Given the description of an element on the screen output the (x, y) to click on. 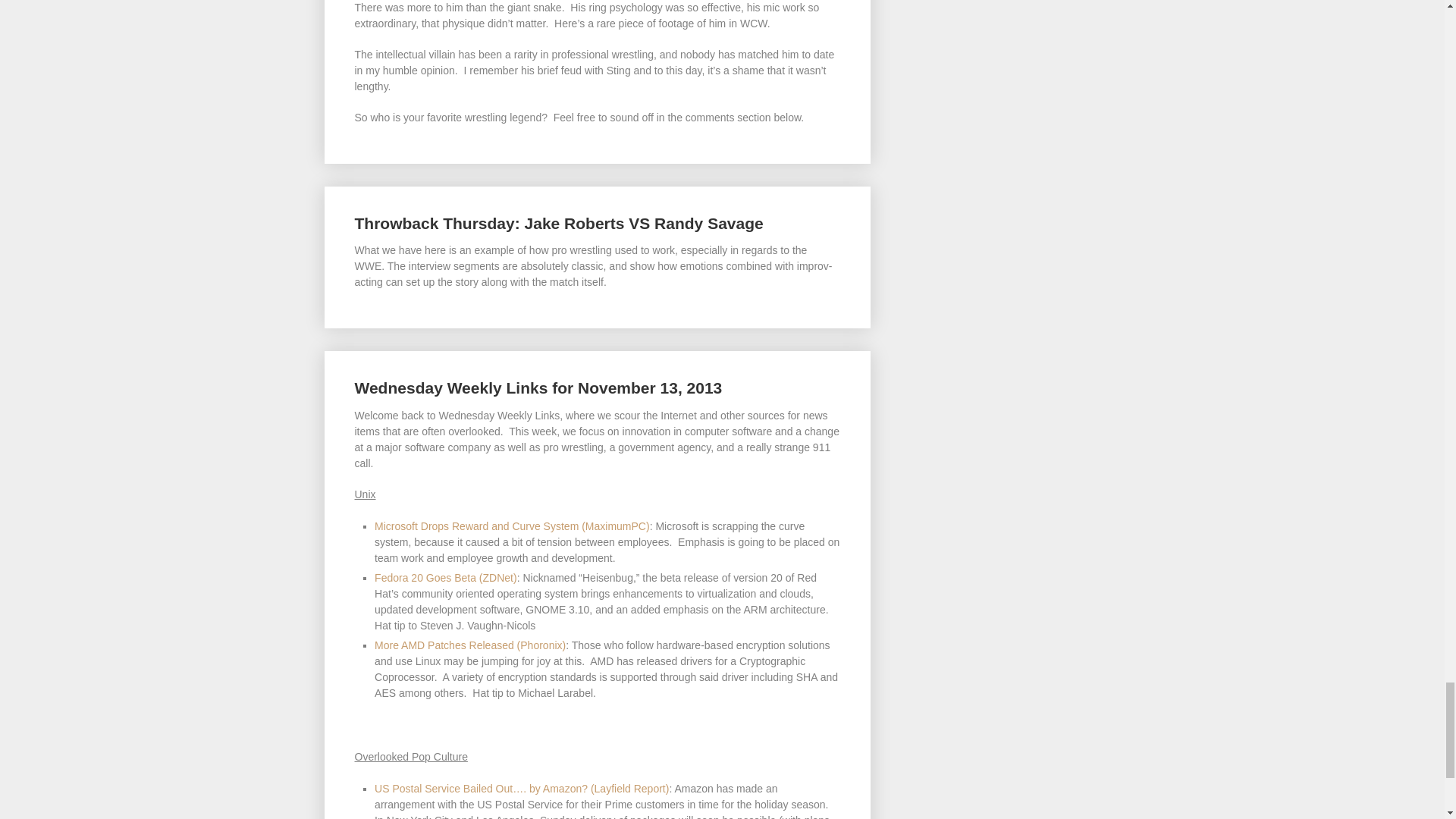
If it's detrimental to grades in school, one would think.... (511, 526)
Wednesday Weekly Links for November 13, 2013 (538, 387)
Throwback Thursday: Jake Roberts VS Randy Savage (558, 222)
